Given the description of an element on the screen output the (x, y) to click on. 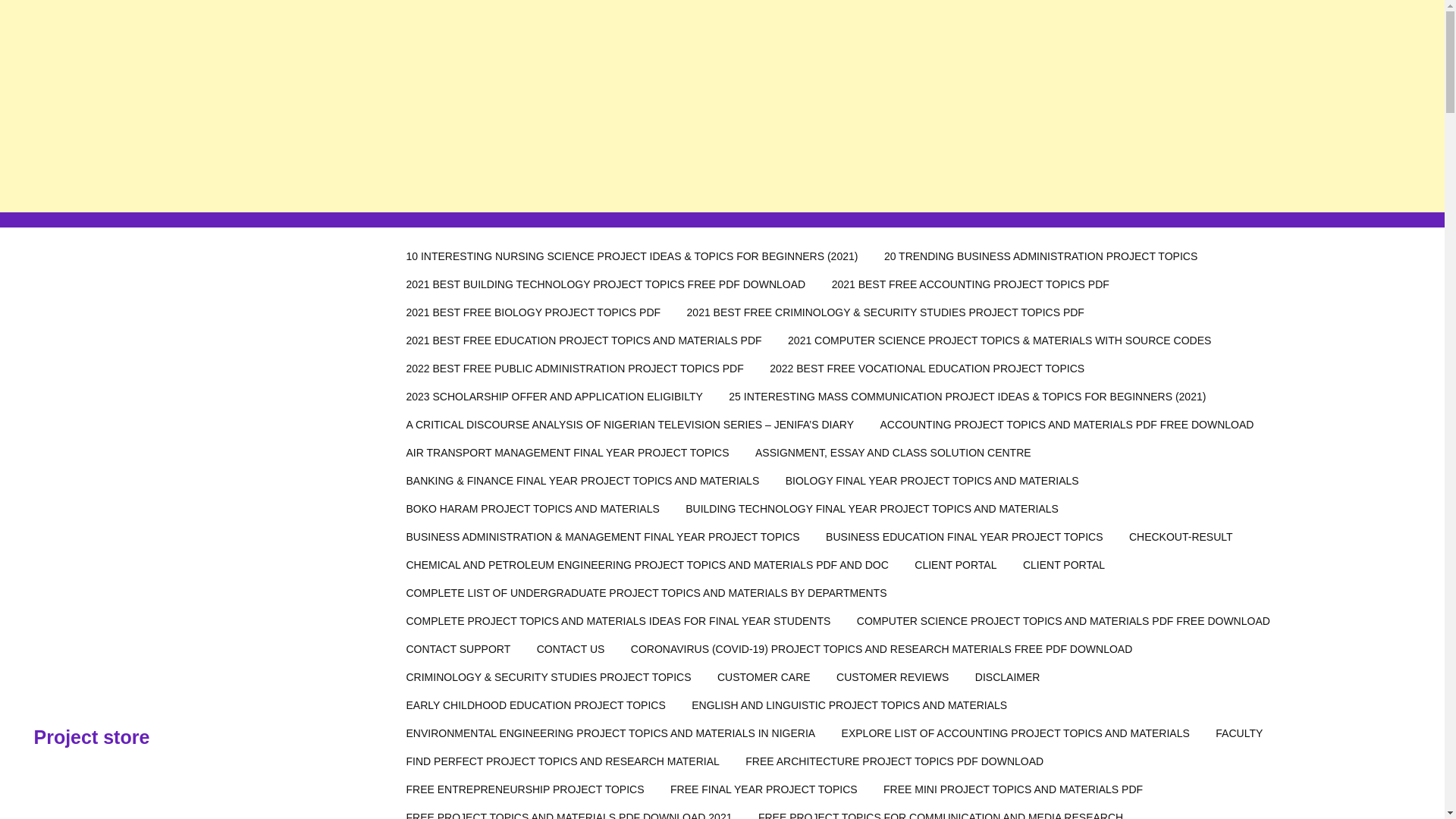
CUSTOMER REVIEWS (892, 677)
ASSIGNMENT, ESSAY AND CLASS SOLUTION CENTRE (893, 452)
EARLY CHILDHOOD EDUCATION PROJECT TOPICS (535, 705)
2022 BEST FREE VOCATIONAL EDUCATION PROJECT TOPICS (927, 368)
CONTACT US (570, 649)
CHECKOUT-RESULT (1181, 537)
2021 BEST FREE EDUCATION PROJECT TOPICS AND MATERIALS PDF (583, 340)
CONTACT SUPPORT (457, 649)
Project store (91, 736)
BIOLOGY FINAL YEAR PROJECT TOPICS AND MATERIALS (932, 480)
CLIENT PORTAL (1063, 565)
CLIENT PORTAL (954, 565)
